Given the description of an element on the screen output the (x, y) to click on. 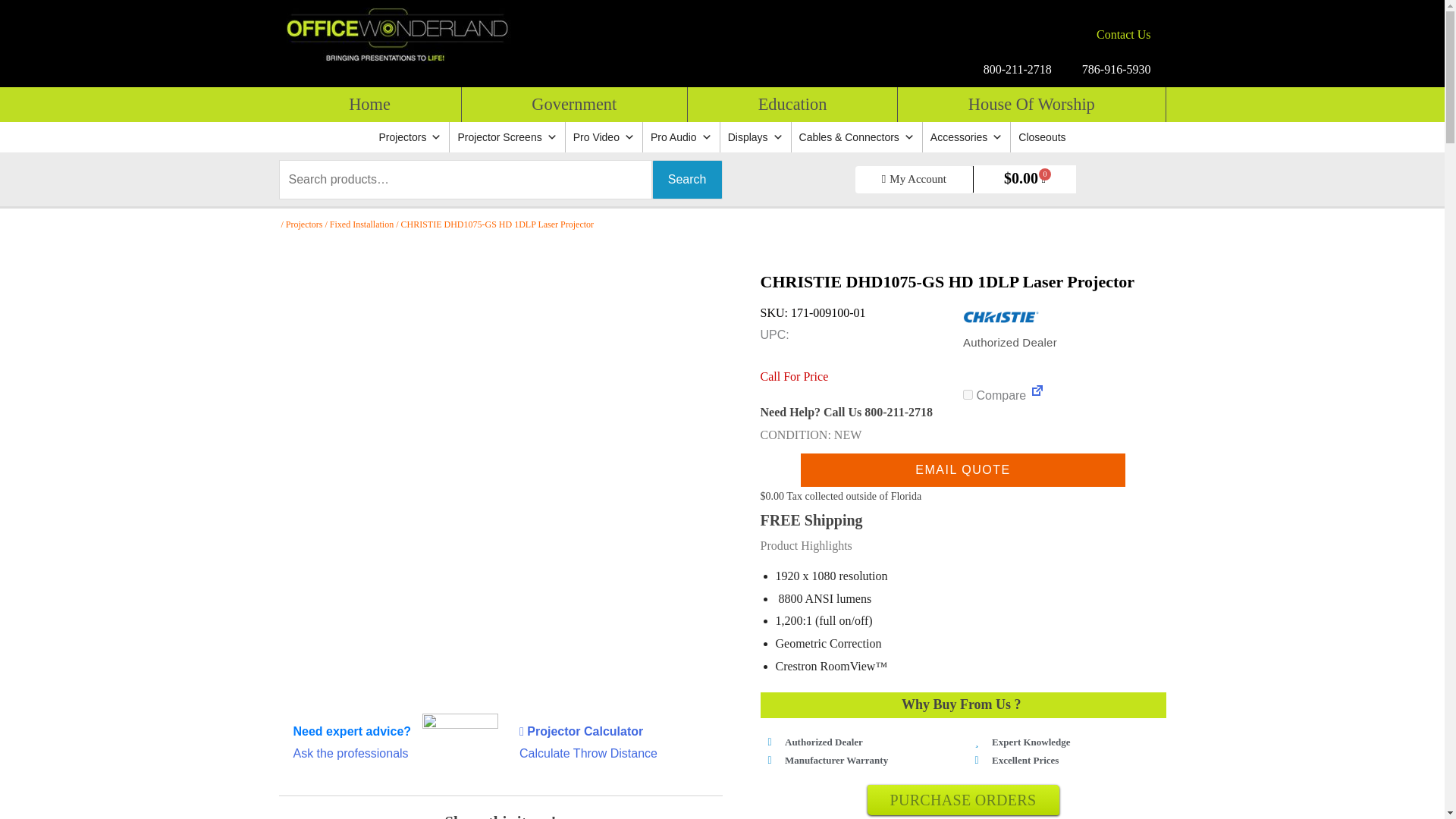
800-211-2718 (1017, 69)
Projector Screens (506, 137)
786-916-5930 (1116, 69)
House Of Worship (1031, 104)
Compare Page (1037, 395)
Home (370, 104)
Contact Us (1123, 34)
Projectors (409, 137)
Education (791, 104)
on (967, 394)
